Given the description of an element on the screen output the (x, y) to click on. 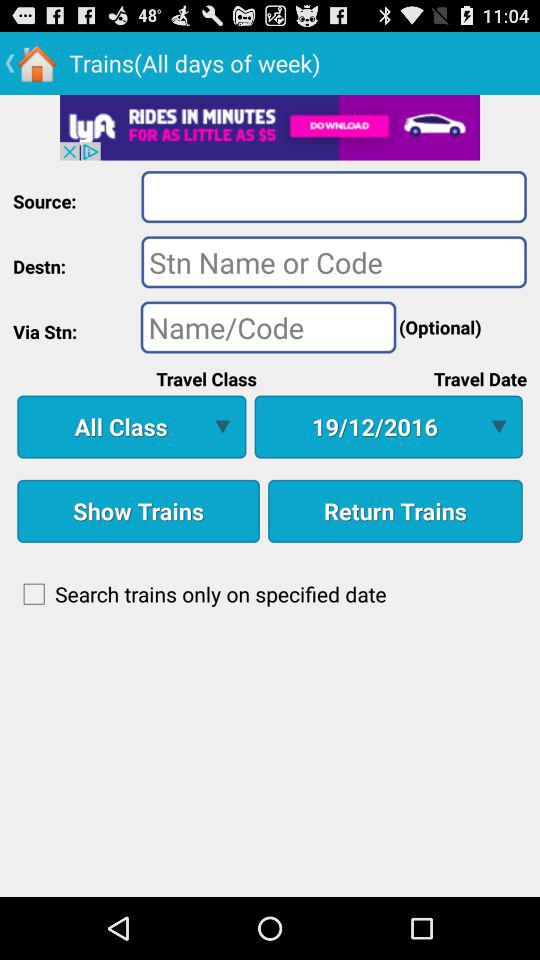
destination box (333, 261)
